Given the description of an element on the screen output the (x, y) to click on. 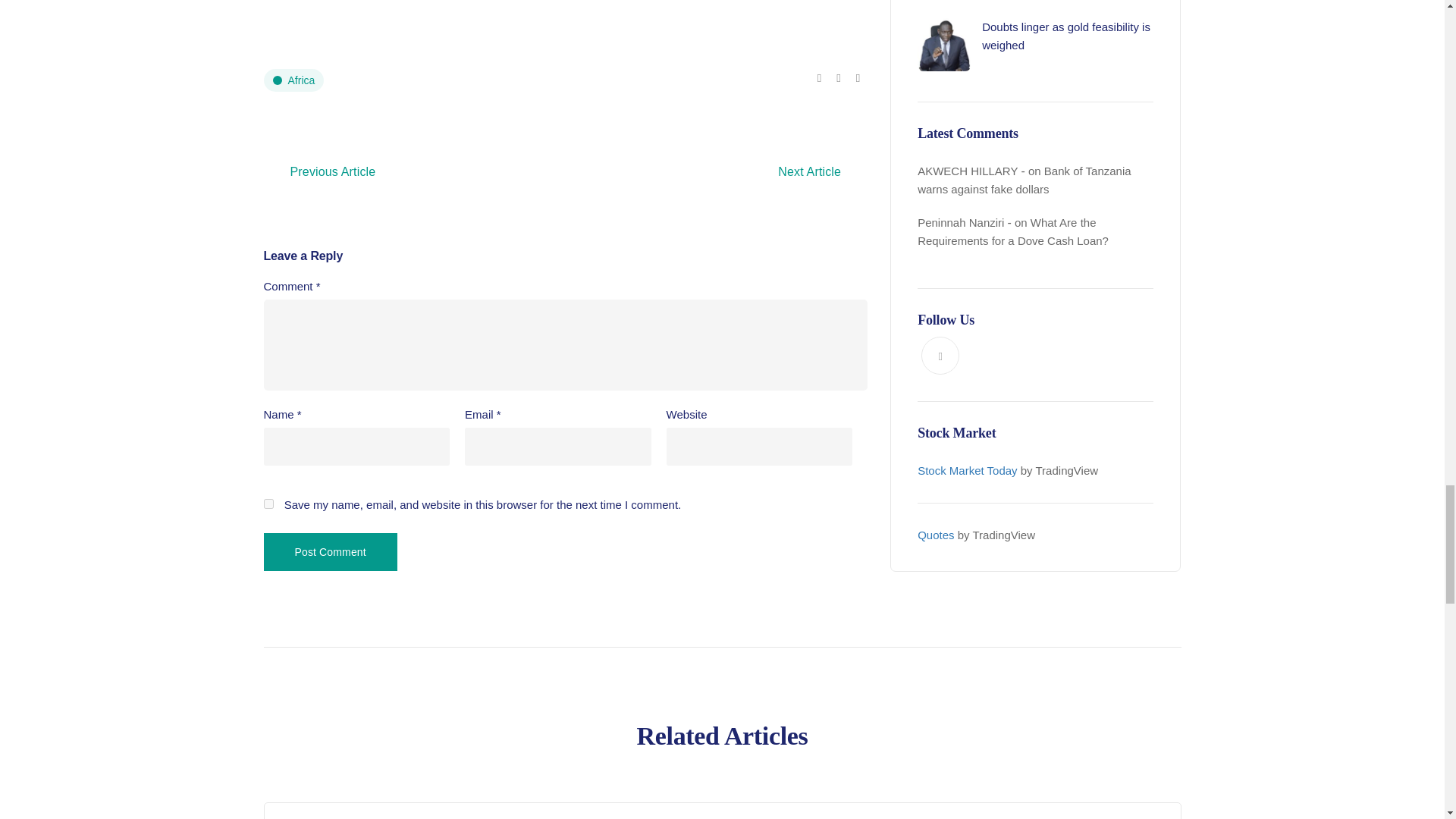
Africa (293, 79)
Next Article (809, 171)
Post Comment (330, 551)
Share on Twitter (837, 77)
Share on LinkedIn (858, 77)
Share on Facebook (818, 77)
Previous Article (333, 171)
Post Comment (330, 551)
yes (268, 503)
